Given the description of an element on the screen output the (x, y) to click on. 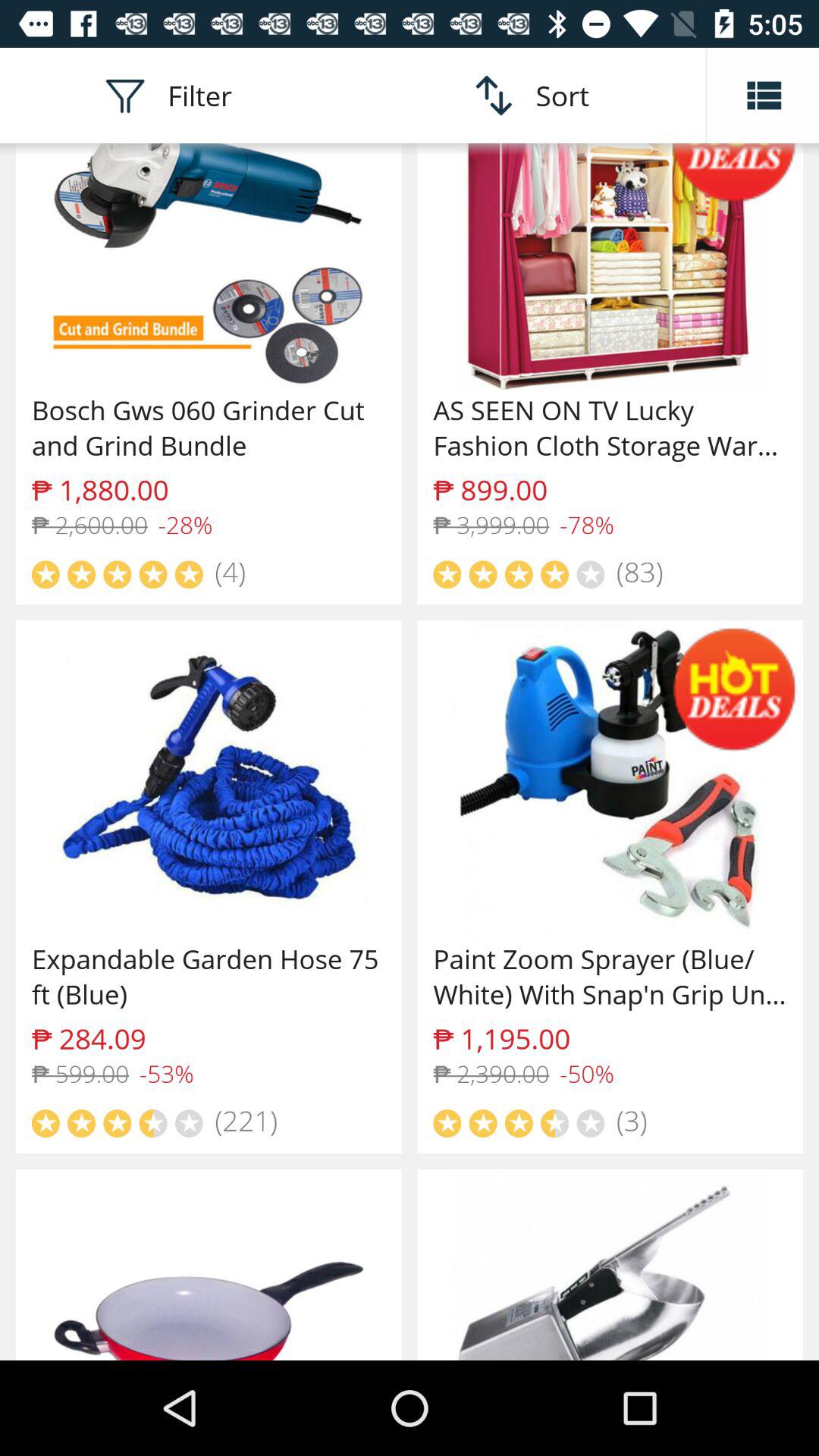
menu options (763, 95)
